Given the description of an element on the screen output the (x, y) to click on. 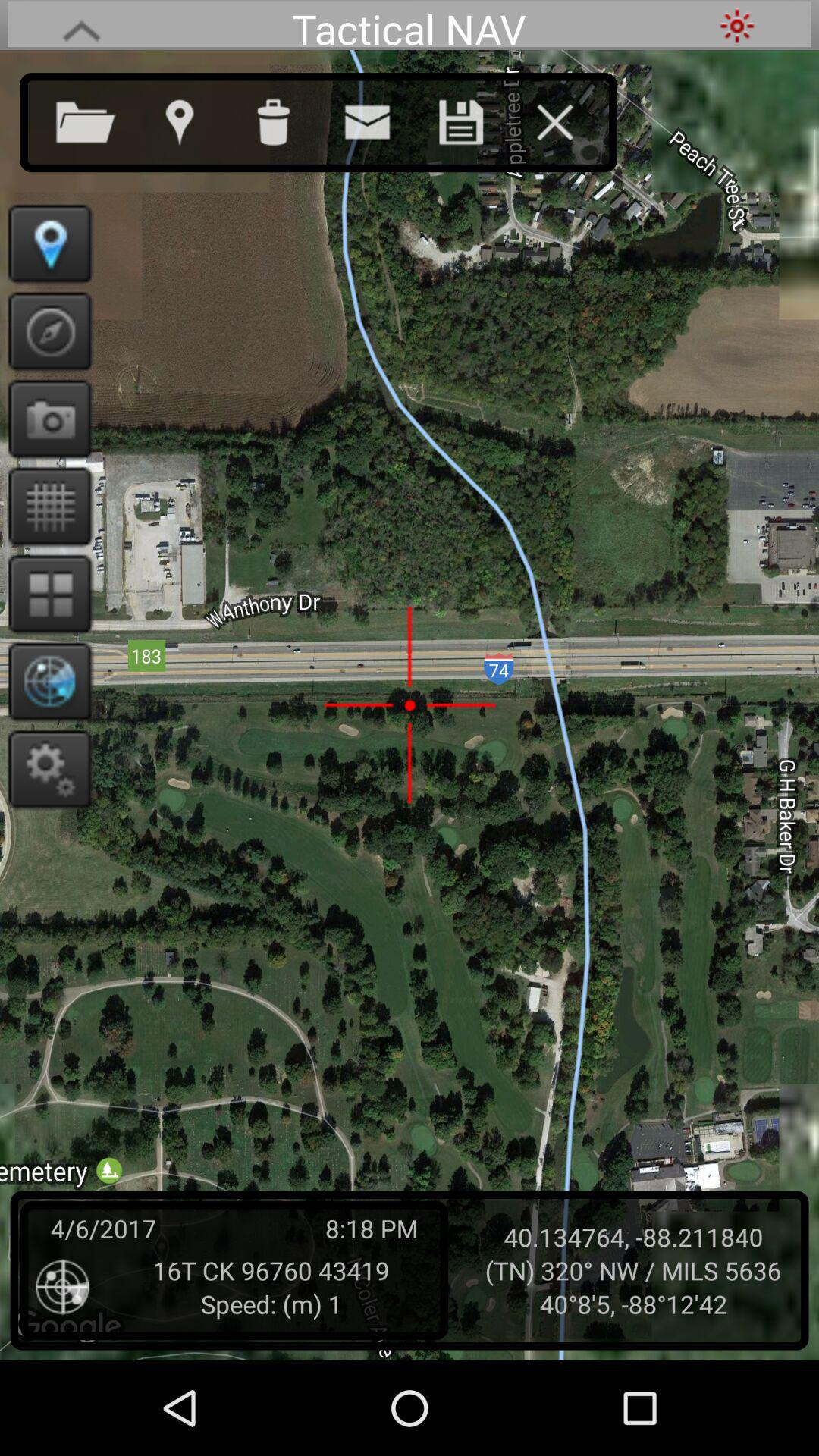
locate option (45, 330)
